Given the description of an element on the screen output the (x, y) to click on. 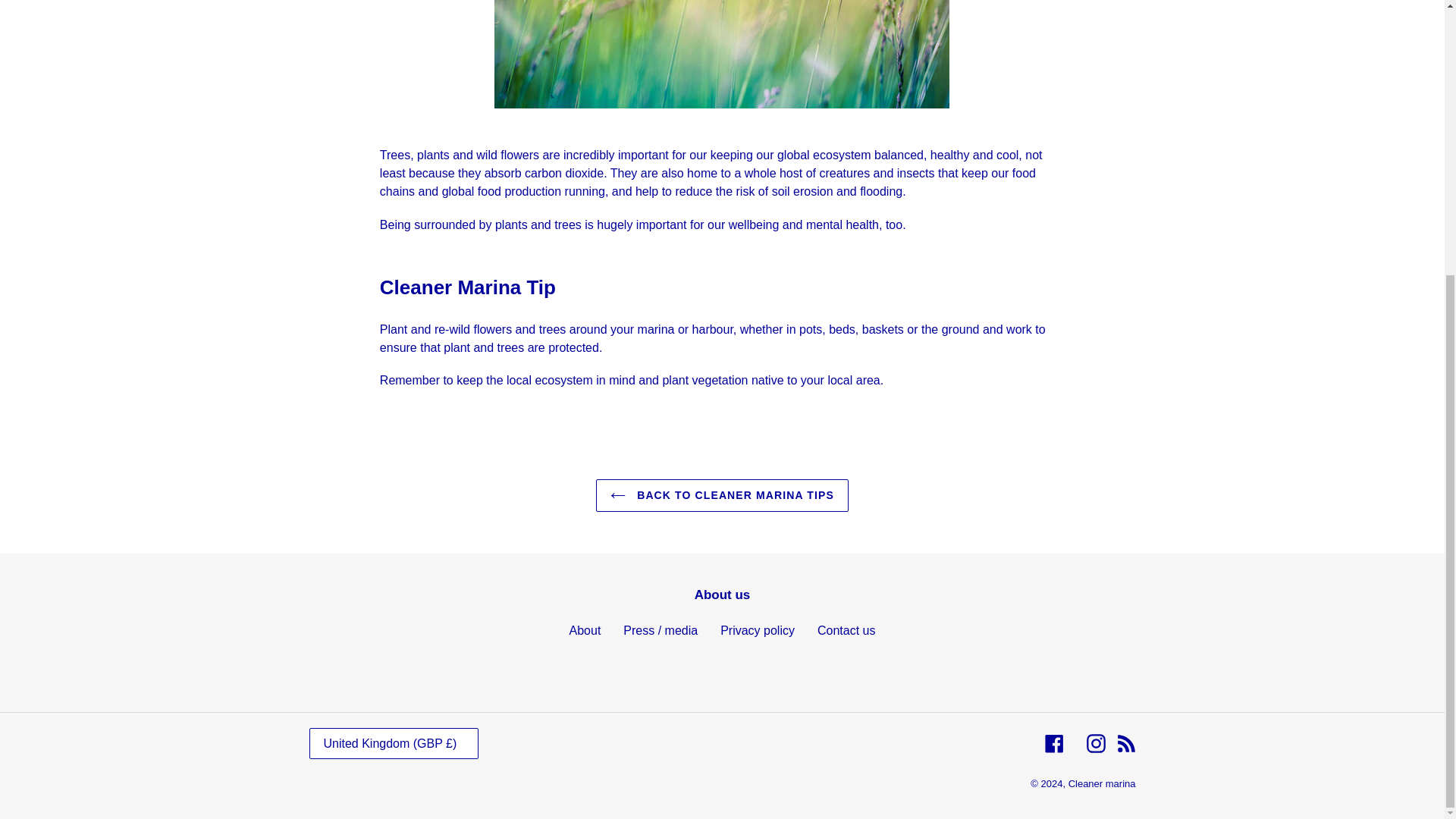
BACK TO CLEANER MARINA TIPS (721, 495)
Contact us (845, 630)
About (585, 630)
Privacy policy (757, 630)
